Given the description of an element on the screen output the (x, y) to click on. 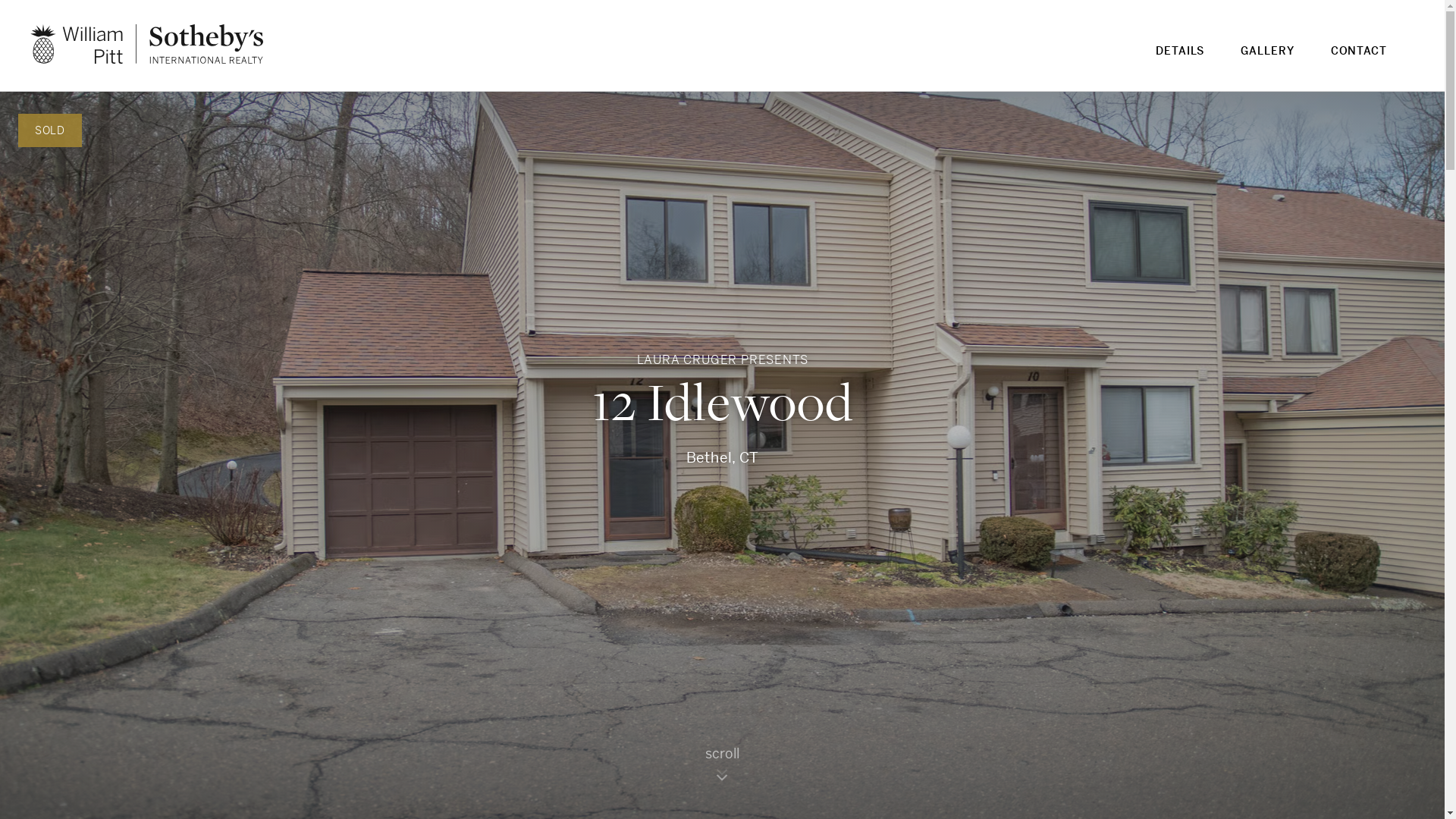
CONTACT Element type: text (1358, 60)
scroll Element type: text (722, 769)
GALLERY Element type: text (1266, 60)
William Pitt SIR Element type: hover (146, 43)
DETAILS Element type: text (1179, 60)
